Given the description of an element on the screen output the (x, y) to click on. 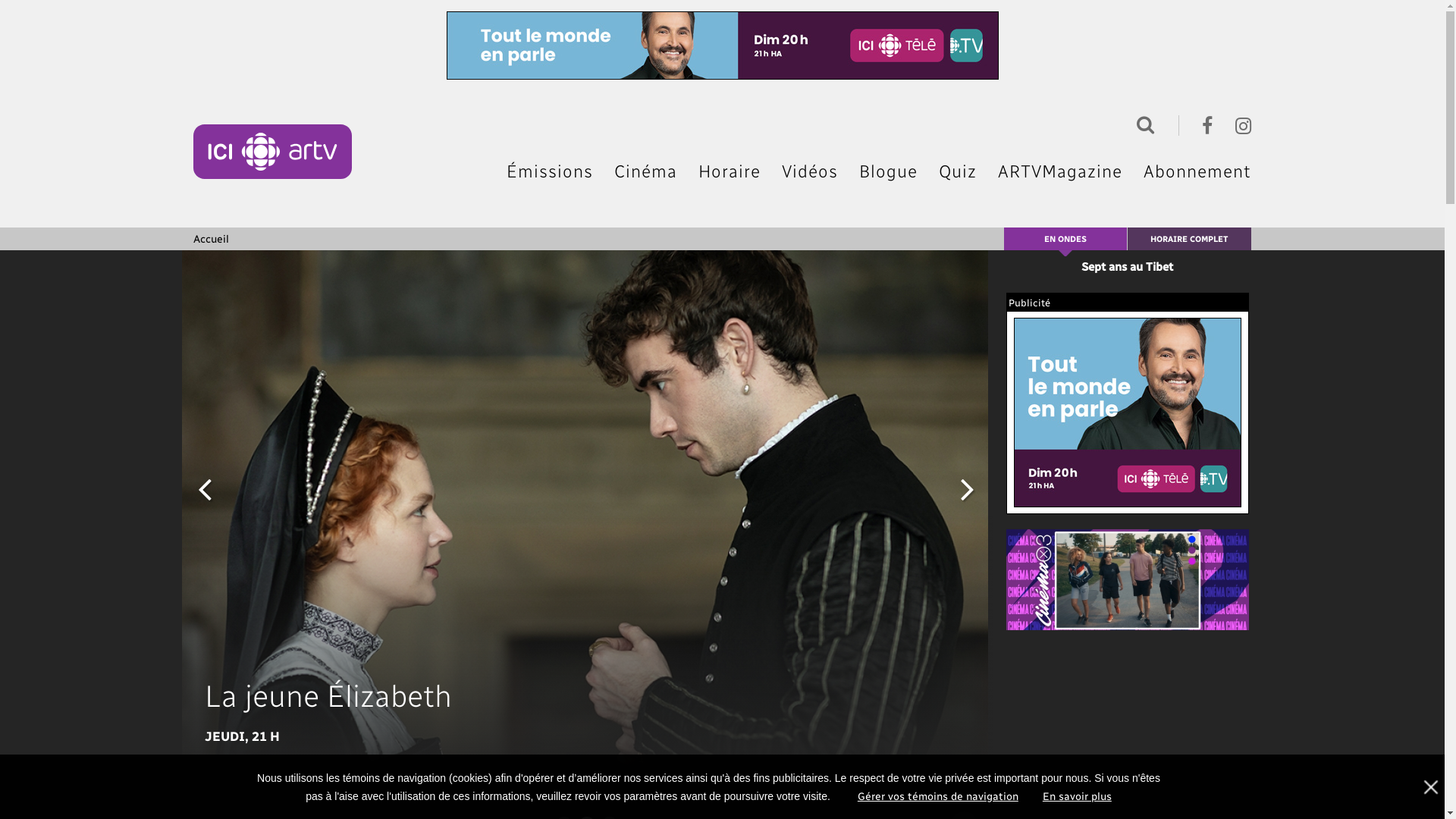
Sept ans au Tibet Element type: text (1127, 266)
Previous Element type: text (204, 488)
ICI ARTV Element type: text (272, 151)
Quiz Element type: text (957, 170)
EN ONDES Element type: text (1065, 238)
Abonnement Element type: text (1197, 170)
Horaire Element type: text (729, 170)
Blogue Element type: text (888, 170)
En savoir plus Element type: text (1076, 795)
3rd party ad content Element type: hover (721, 45)
HORAIRE COMPLET Element type: text (1189, 239)
ARTVMagazine Element type: text (1059, 170)
Next Element type: text (967, 488)
3rd party ad content Element type: hover (1127, 412)
